Given the description of an element on the screen output the (x, y) to click on. 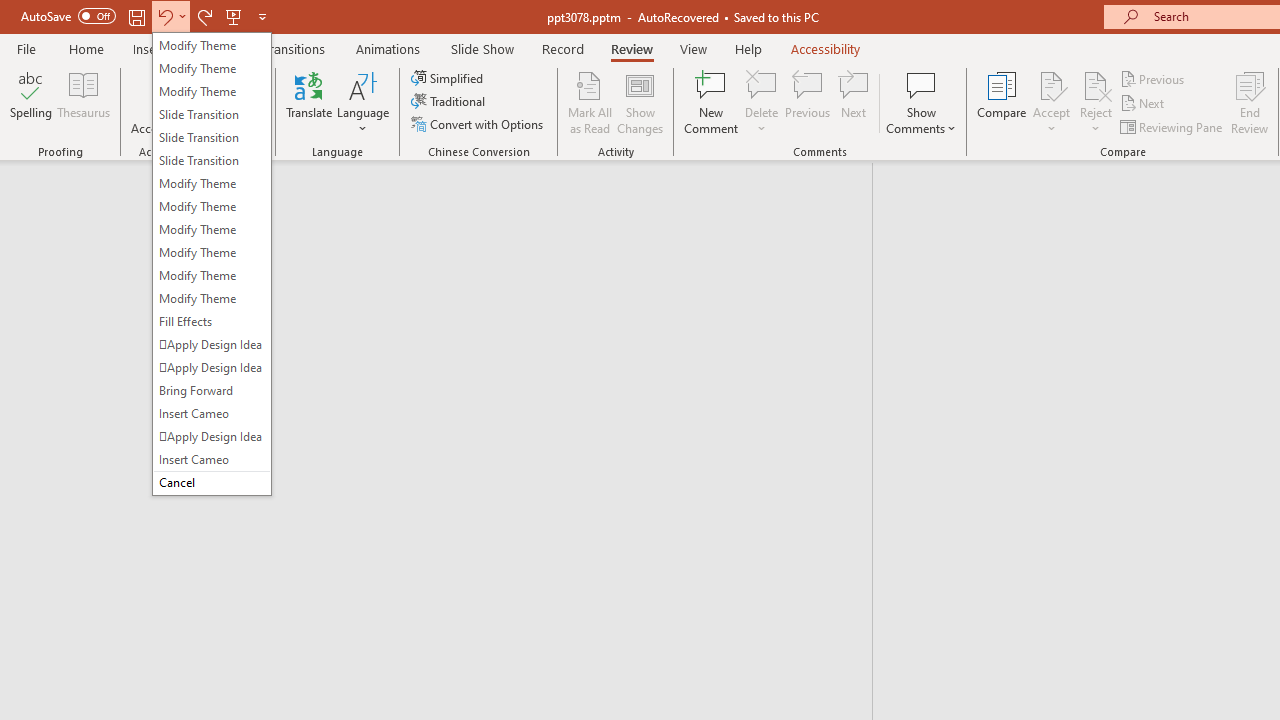
Spelling... (31, 102)
Reviewing Pane (1172, 126)
End Review (1249, 102)
Thesaurus... (83, 102)
Reject (1096, 102)
Mark All as Read (589, 102)
Previous (1153, 78)
Accept (1051, 102)
Delete (762, 102)
